Given the description of an element on the screen output the (x, y) to click on. 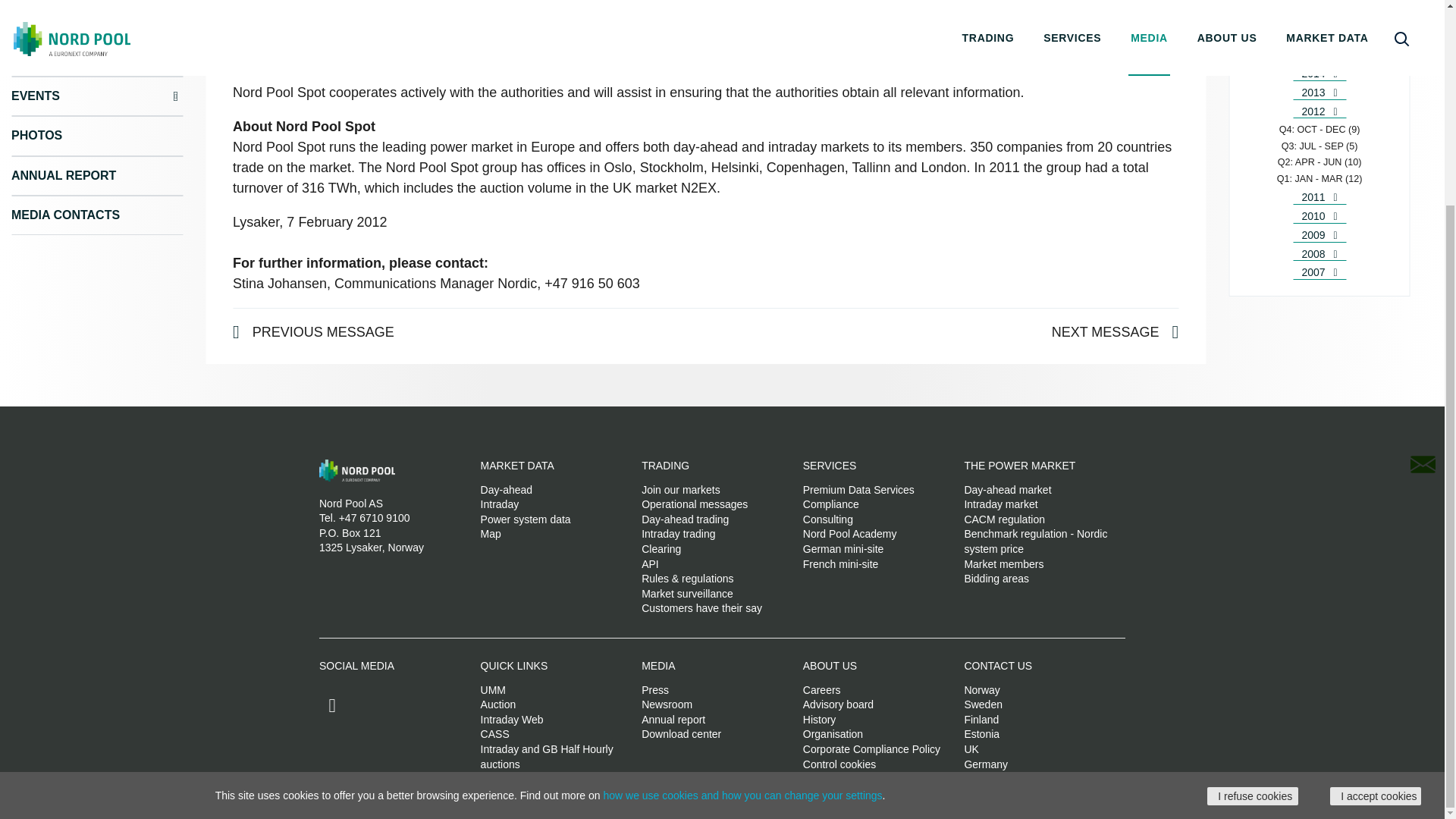
Compliance (831, 503)
Market surveillance (687, 593)
API (650, 563)
Clearing (661, 548)
Intraday (499, 503)
Map (490, 533)
CACM regulation (1004, 519)
I refuse cookies (1252, 532)
I accept cookies (1375, 532)
Join our markets (680, 490)
Operational messages (695, 503)
Nord Pool Academy (849, 533)
German mini-site (843, 548)
Power system data (525, 519)
Day-ahead (506, 490)
